Given the description of an element on the screen output the (x, y) to click on. 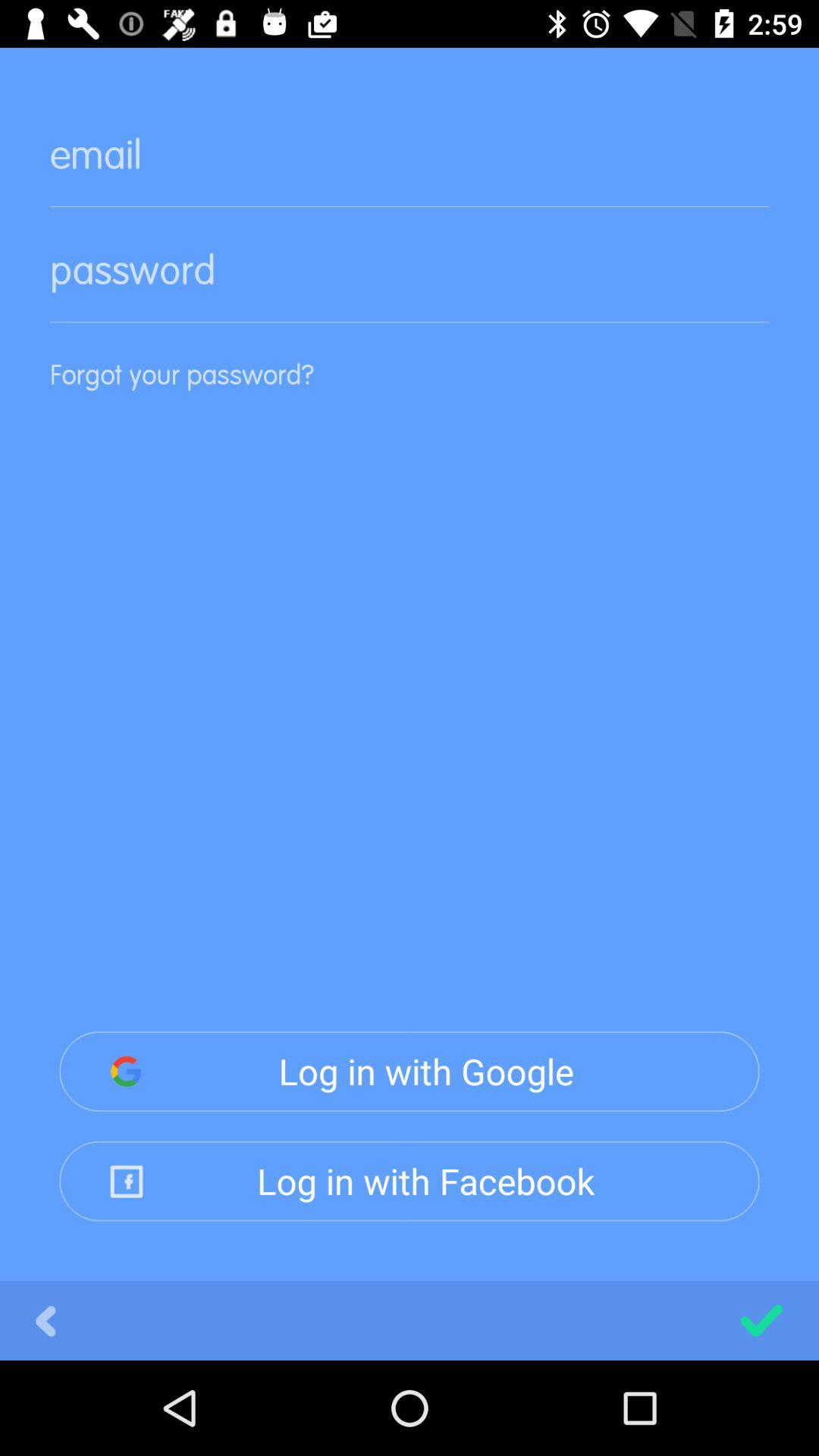
scroll until forgot your password? (409, 397)
